Given the description of an element on the screen output the (x, y) to click on. 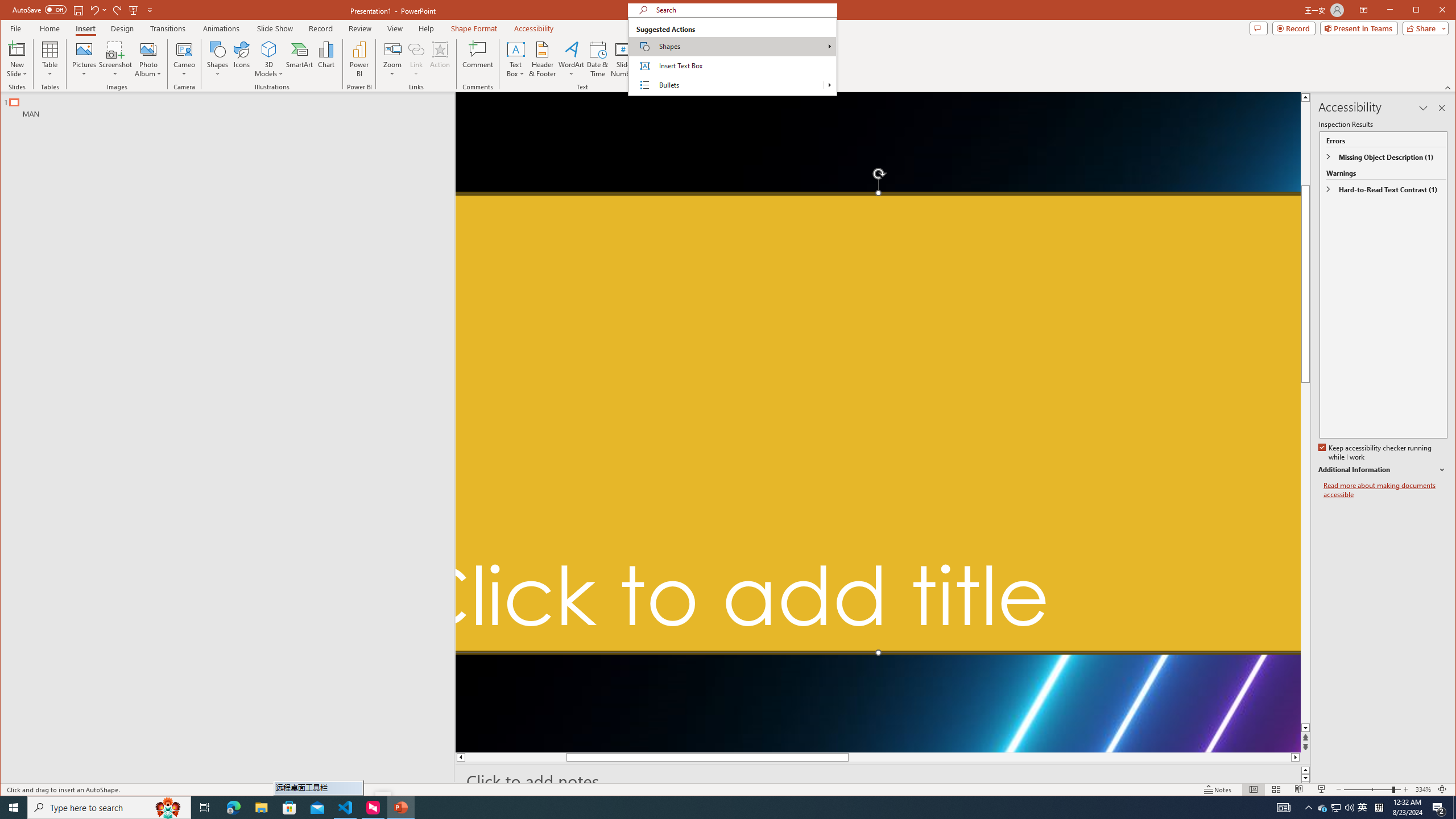
Zoom 334% (1422, 789)
Read more about making documents accessible (1385, 489)
Slide Number (623, 59)
Title TextBox (877, 422)
